Given the description of an element on the screen output the (x, y) to click on. 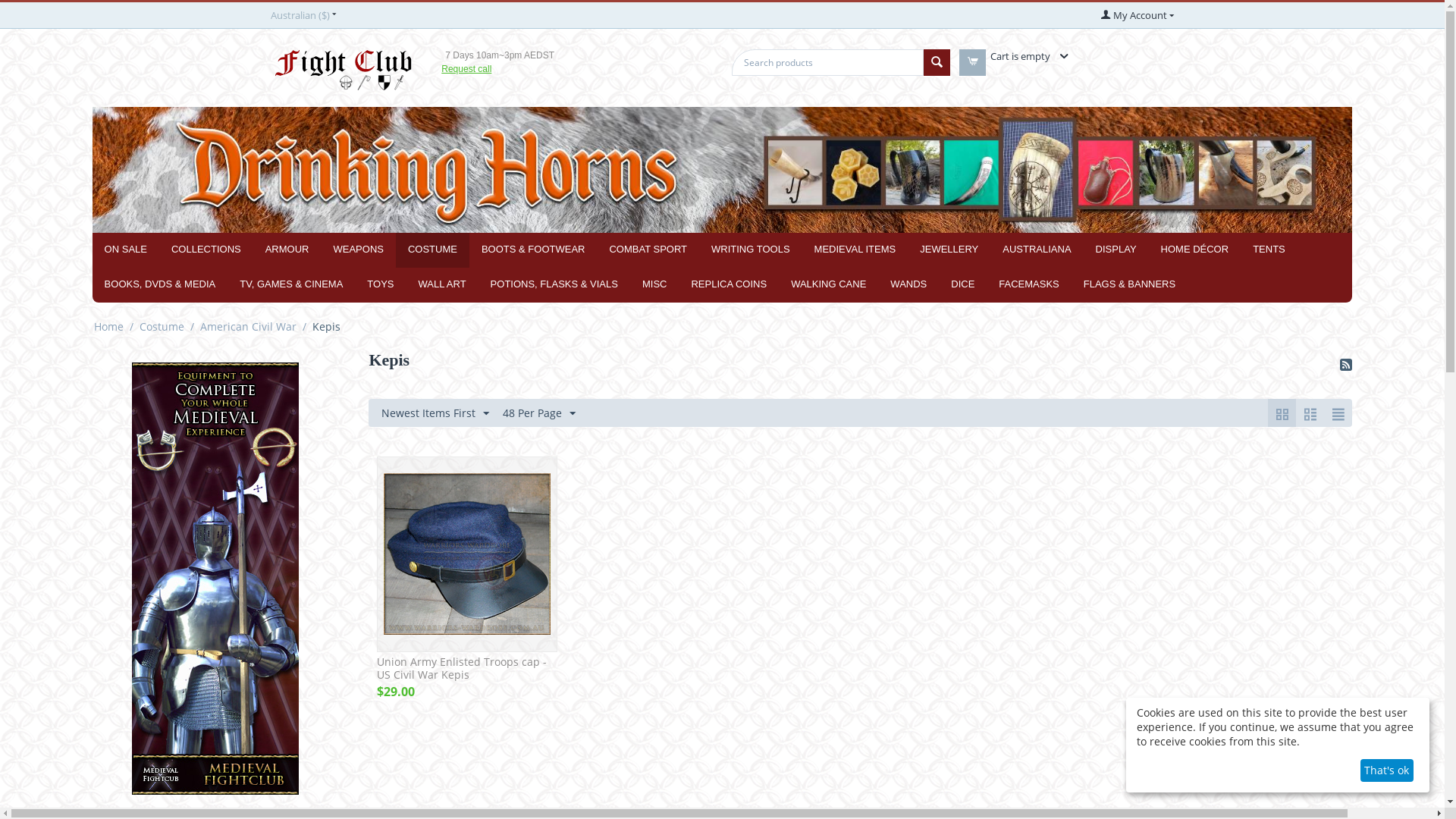
Union Army Enlisted Troops cap - US Civil War Kepis Element type: text (466, 668)
FLAGS & BANNERS Element type: text (1129, 284)
WEAPONS Element type: text (357, 249)
ARMOUR Element type: text (287, 249)
Newest Items First Element type: text (435, 412)
REPLICA COINS Element type: text (728, 284)
Cart is empty Element type: text (1026, 55)
DICE Element type: text (962, 284)
MEDIEVAL ITEMS Element type: text (855, 249)
48 Per Page Element type: text (538, 412)
Costume Element type: text (161, 326)
Search Element type: hover (936, 62)
ON SALE Element type: text (125, 249)
DISPLAY Element type: text (1115, 249)
MISC Element type: text (654, 284)
WALL ART Element type: text (441, 284)
That's ok Element type: text (1386, 770)
Search products Element type: hover (826, 62)
FACEMASKS Element type: text (1028, 284)
BOOTS & FOOTWEAR Element type: text (533, 249)
BOOKS, DVDS & MEDIA Element type: text (160, 284)
JEWELLERY Element type: text (948, 249)
POTIONS, FLASKS & VIALS Element type: text (554, 284)
American Civil War Element type: text (248, 326)
Union Army Enlisted Troops cap - US Civil War Kepis Element type: hover (466, 553)
WALKING CANE Element type: text (828, 284)
 My Account Element type: text (1137, 14)
AUSTRALIANA Element type: text (1036, 249)
Home Element type: text (108, 326)
TENTS Element type: text (1268, 249)
WRITING TOOLS Element type: text (750, 249)
TOYS Element type: text (379, 284)
COLLECTIONS Element type: text (206, 249)
COMBAT SPORT Element type: text (647, 249)
Australian ($) Element type: text (302, 15)
WANDS Element type: text (908, 284)
COSTUME Element type: text (432, 249)
Request call Element type: text (466, 68)
TV, GAMES & CINEMA Element type: text (290, 284)
